Given the description of an element on the screen output the (x, y) to click on. 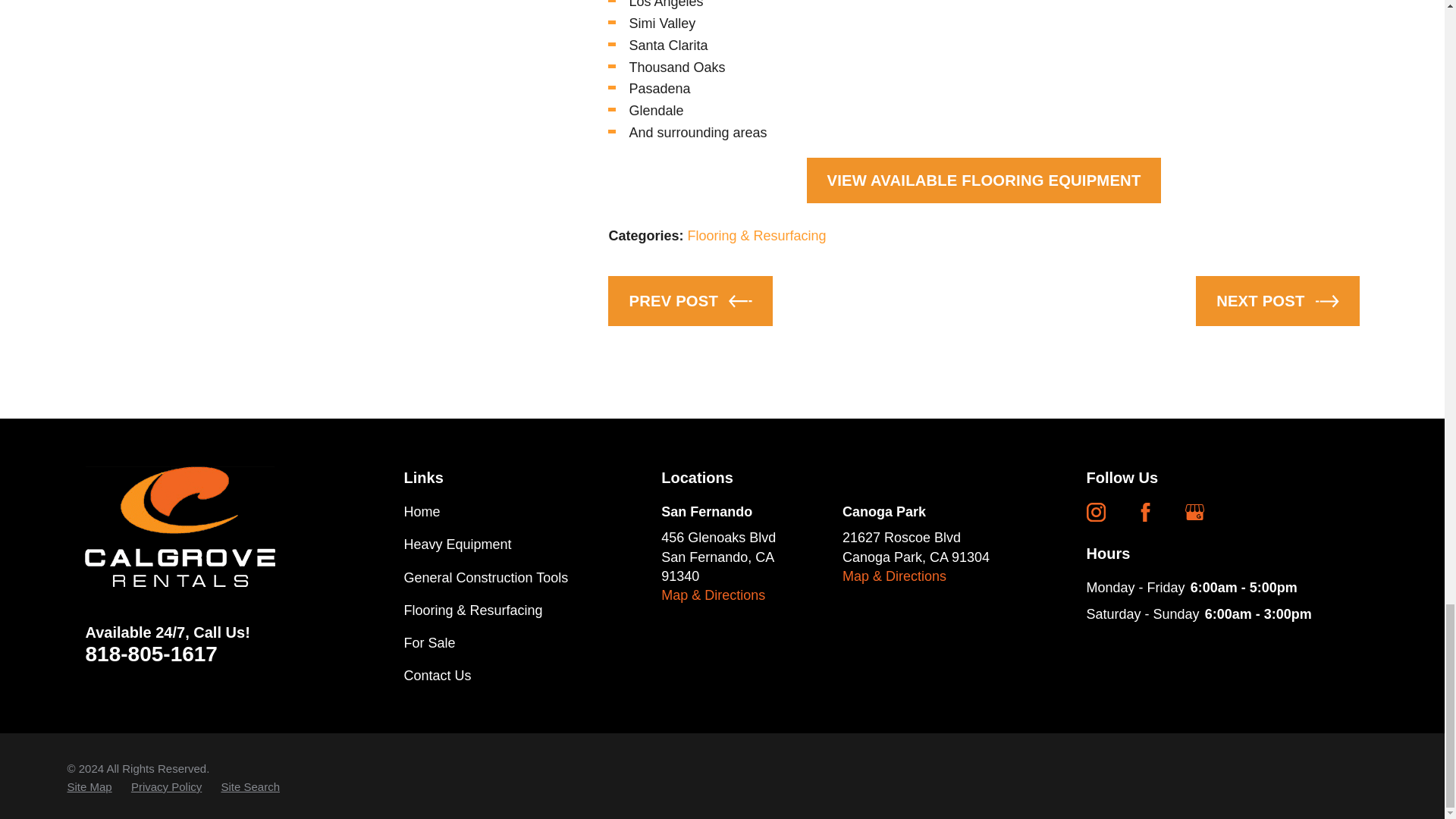
Home (193, 526)
Facebook (1144, 511)
Calgrove Equipment Rentals (179, 526)
Google Business Profile (1194, 511)
Instagram (1095, 511)
